Given the description of an element on the screen output the (x, y) to click on. 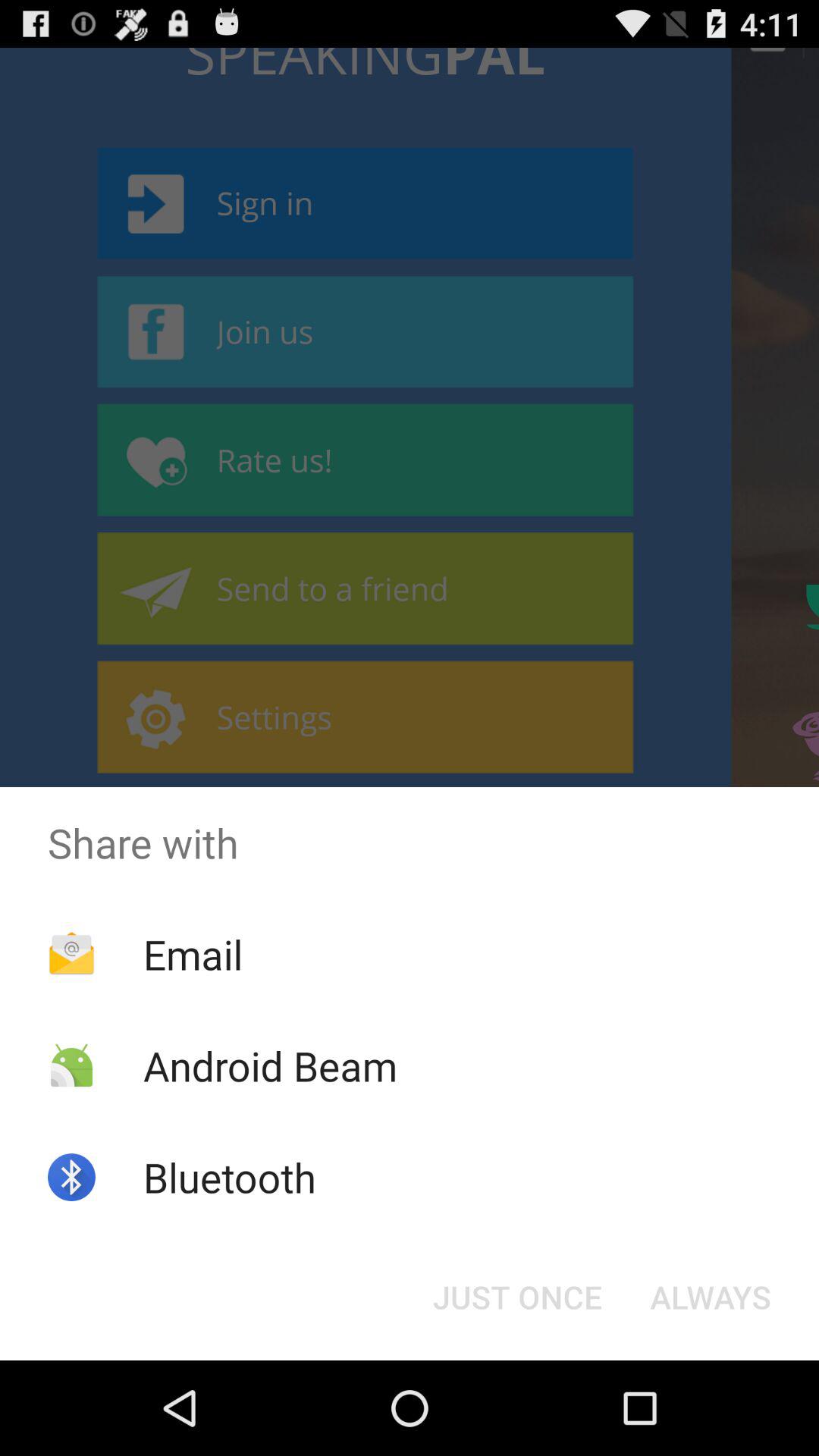
tap the bluetooth item (229, 1176)
